Given the description of an element on the screen output the (x, y) to click on. 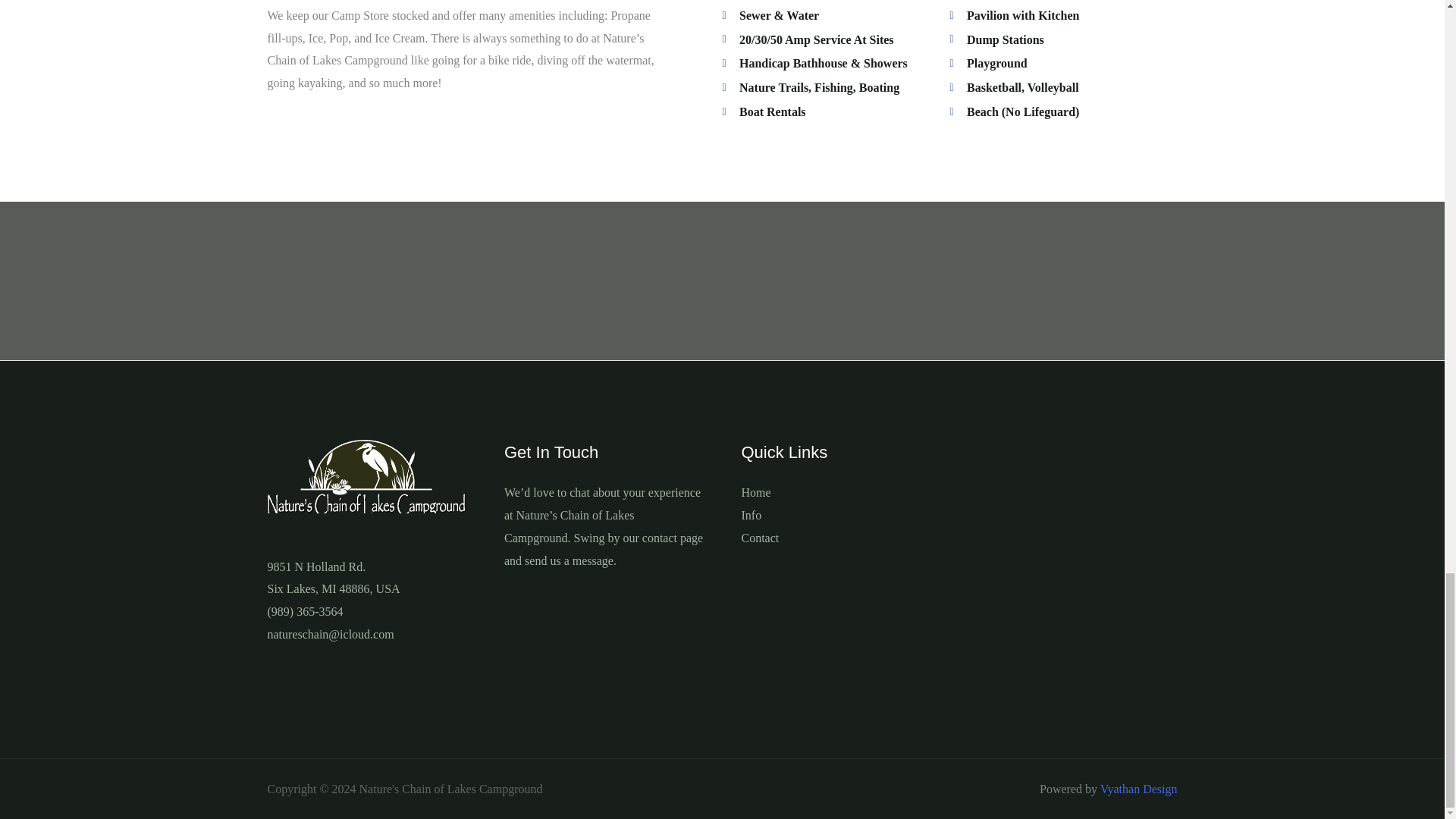
Vyathan Design (332, 578)
Contact (1138, 788)
Info (759, 537)
Home (751, 514)
